Given the description of an element on the screen output the (x, y) to click on. 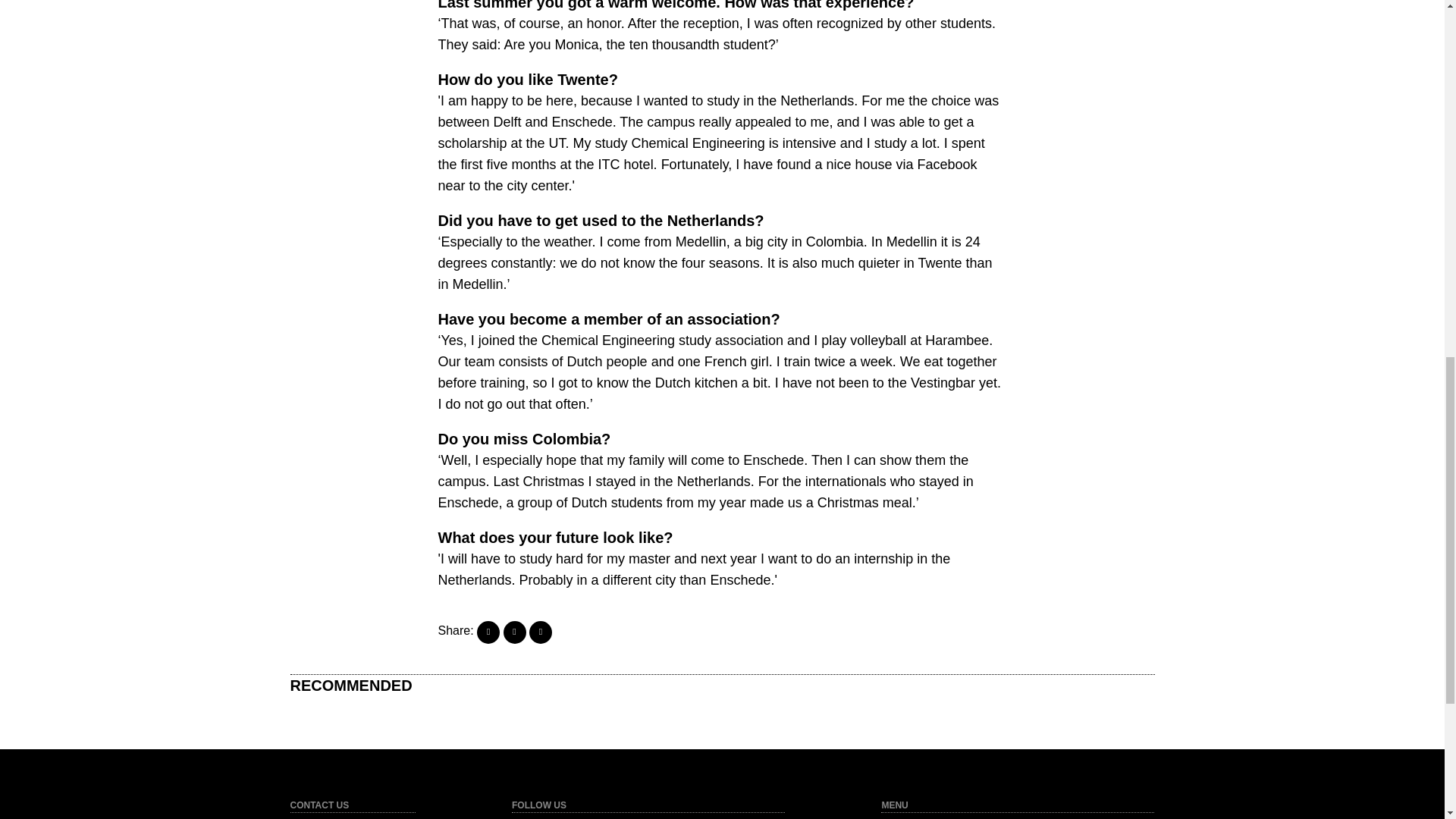
Share on Twitter (514, 631)
Share on LinkedIn (540, 631)
Share on Facebook (488, 631)
